Given the description of an element on the screen output the (x, y) to click on. 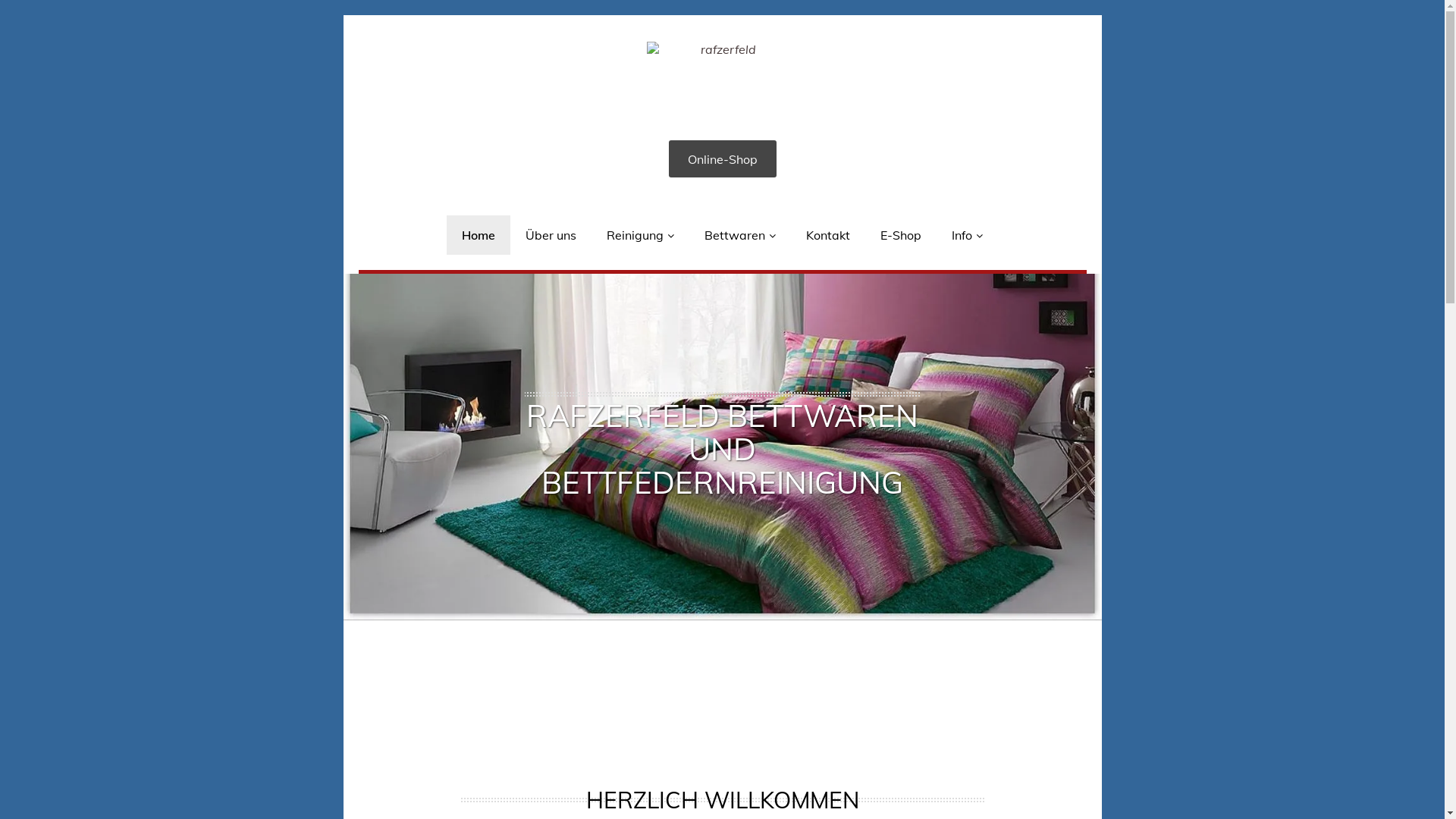
Online-Shop Element type: text (722, 158)
Bettwaren Element type: text (739, 234)
Reinigung Element type: text (640, 234)
E-Shop Element type: text (900, 234)
Home Element type: text (478, 234)
Info Element type: text (966, 234)
Kontakt Element type: text (827, 234)
